Given the description of an element on the screen output the (x, y) to click on. 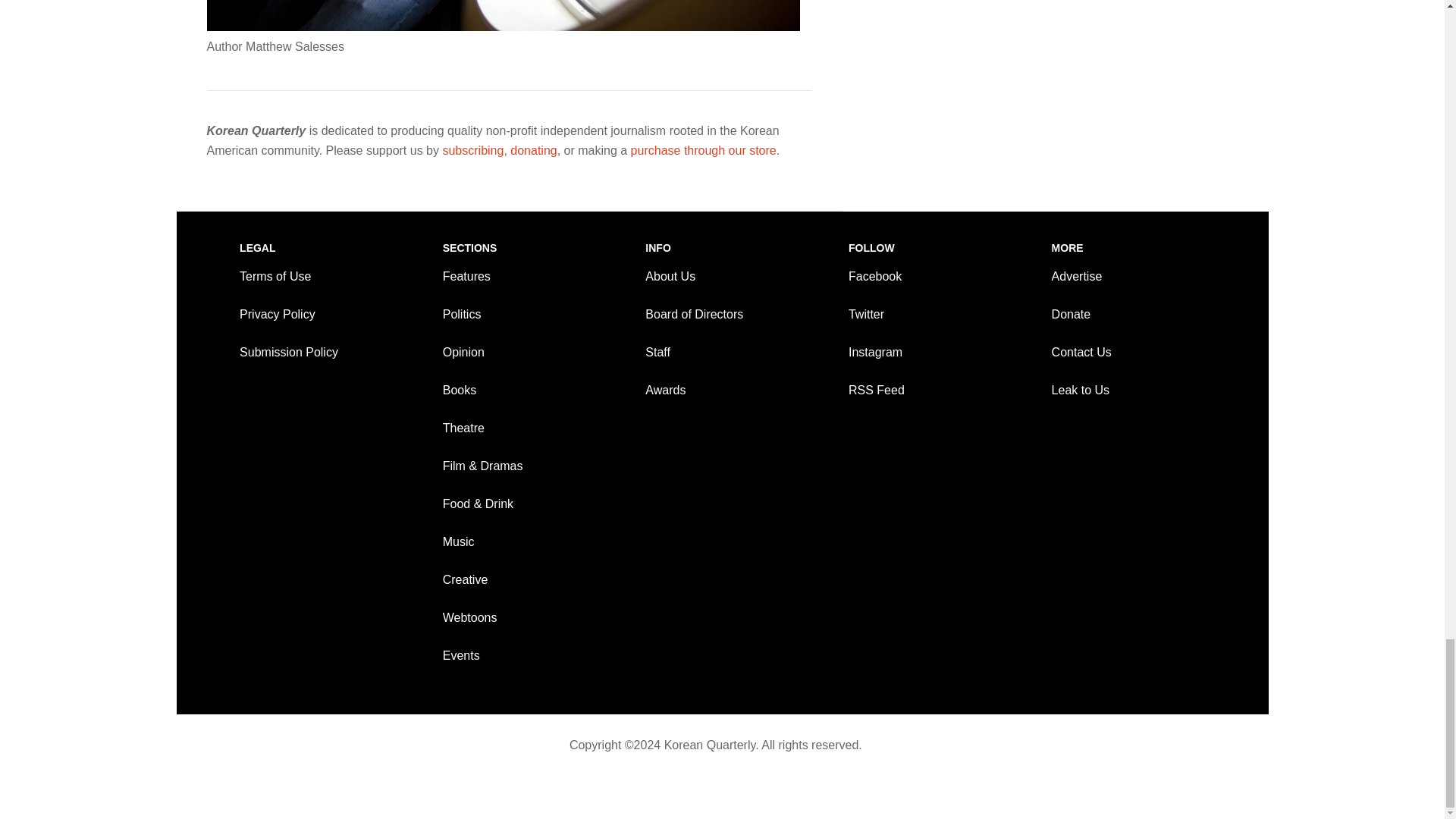
donating (533, 150)
purchase through our store (703, 150)
subscribing (472, 150)
